Given the description of an element on the screen output the (x, y) to click on. 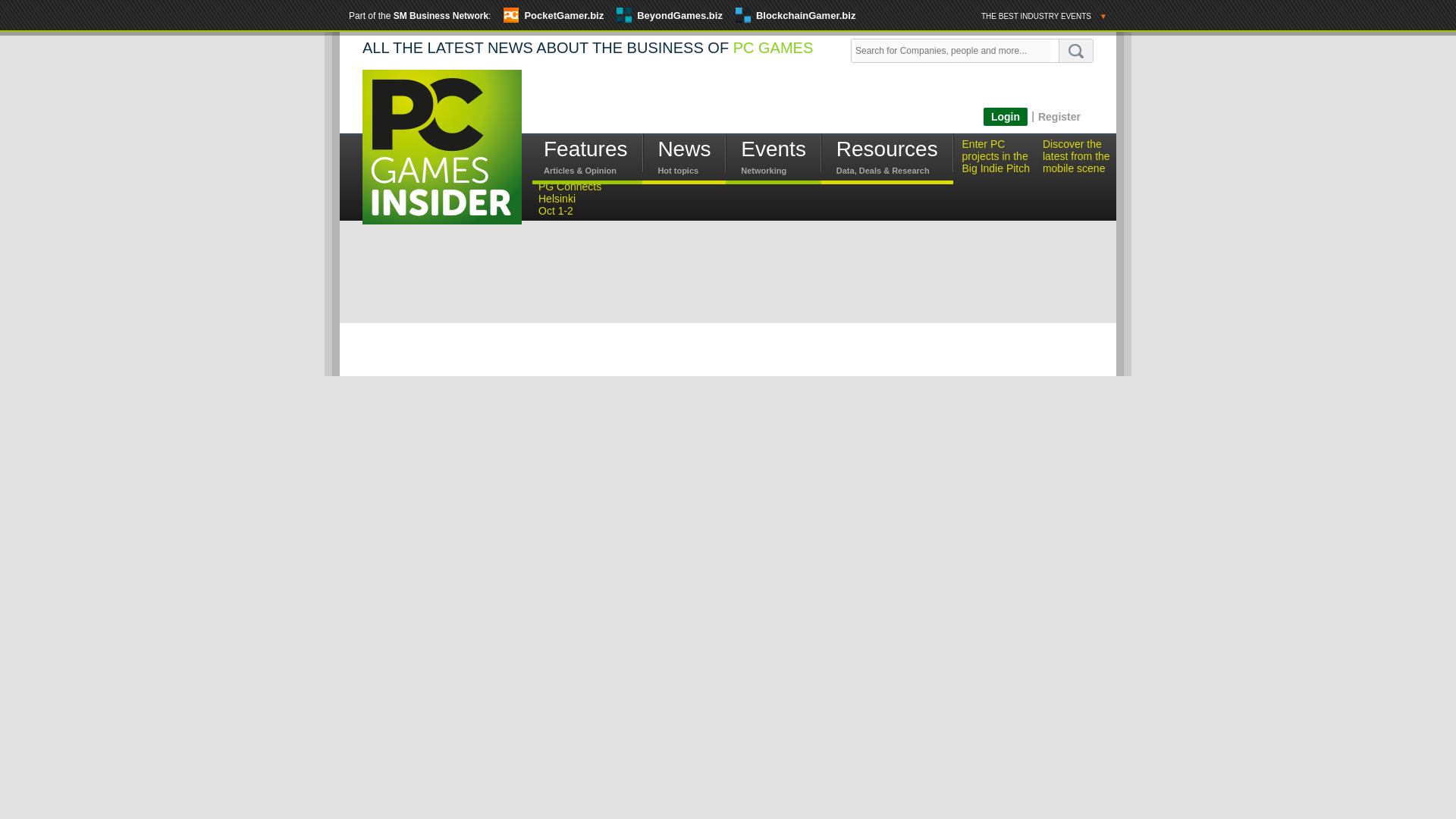
PC Games Insider (441, 146)
3rd party ad content (808, 103)
Login (1005, 116)
Register (1059, 116)
PC Games Insider (441, 159)
